Given the description of an element on the screen output the (x, y) to click on. 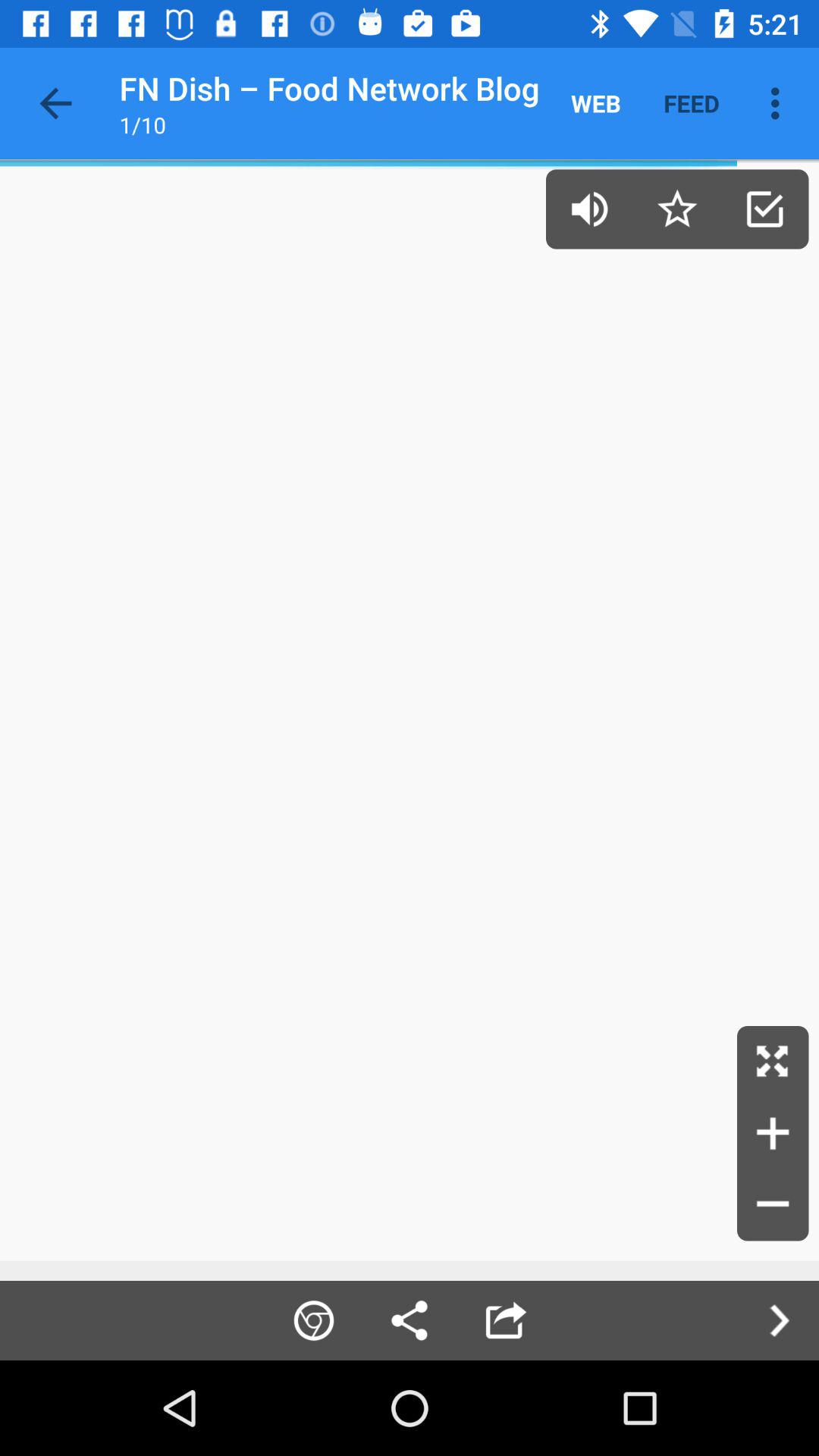
turn off icon to the left of the feed icon (595, 103)
